Given the description of an element on the screen output the (x, y) to click on. 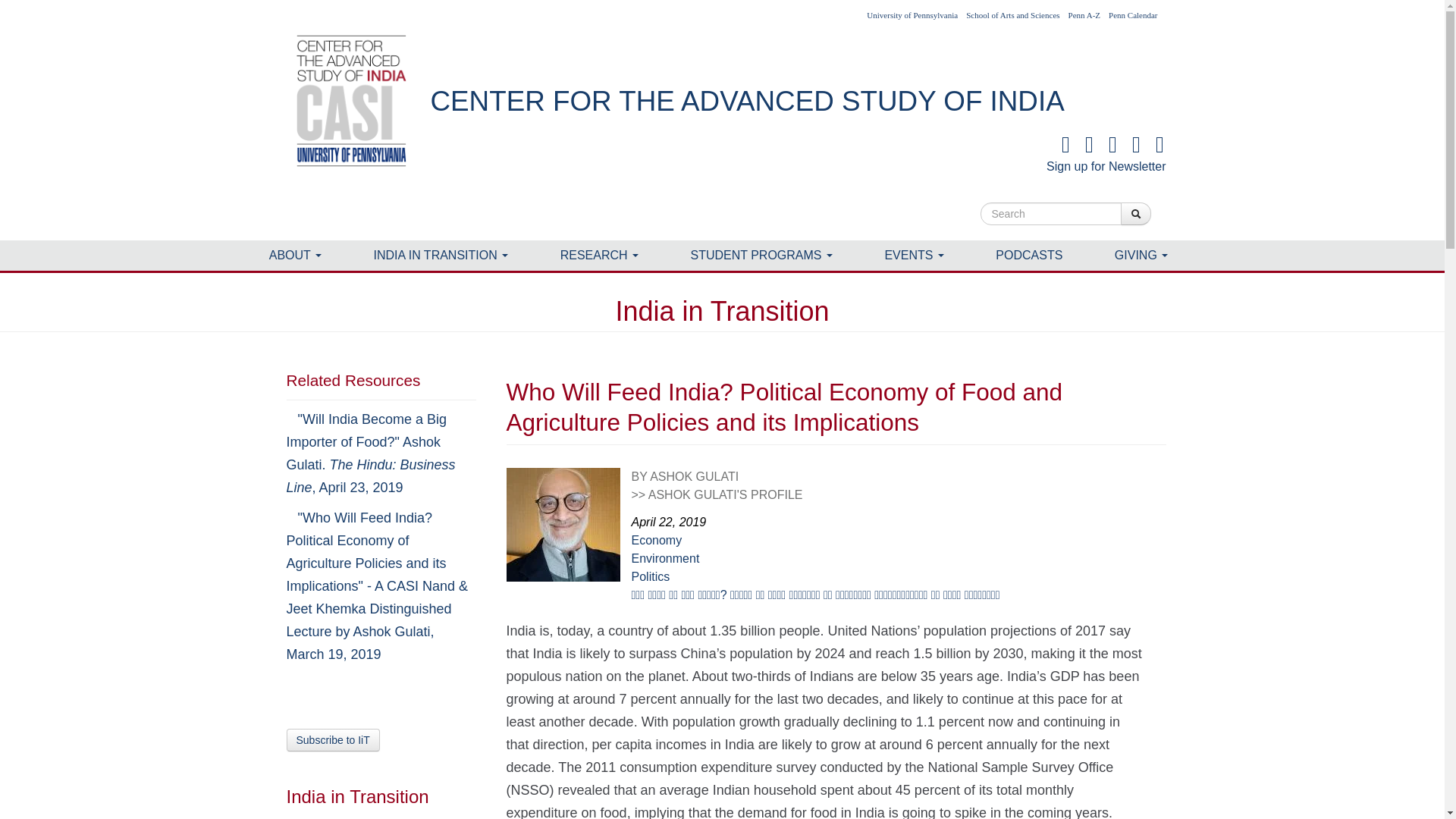
Penn A-Z (1084, 14)
University of Pennsylvania (912, 14)
Search (1177, 205)
School of Arts and Sciences (1012, 14)
RESEARCH (598, 255)
ABOUT (295, 255)
Sign up for Newsletter (1106, 154)
Search (1136, 213)
Enter the terms you wish to search for. (1050, 213)
Penn Calendar (1132, 14)
INDIA IN TRANSITION (440, 255)
